Given the description of an element on the screen output the (x, y) to click on. 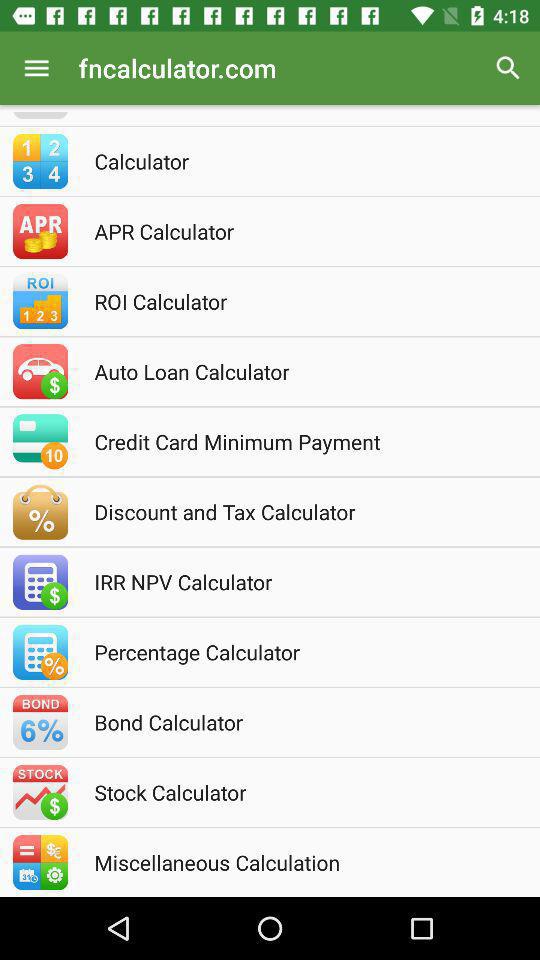
jump until miscellaneous calculation icon (297, 862)
